Given the description of an element on the screen output the (x, y) to click on. 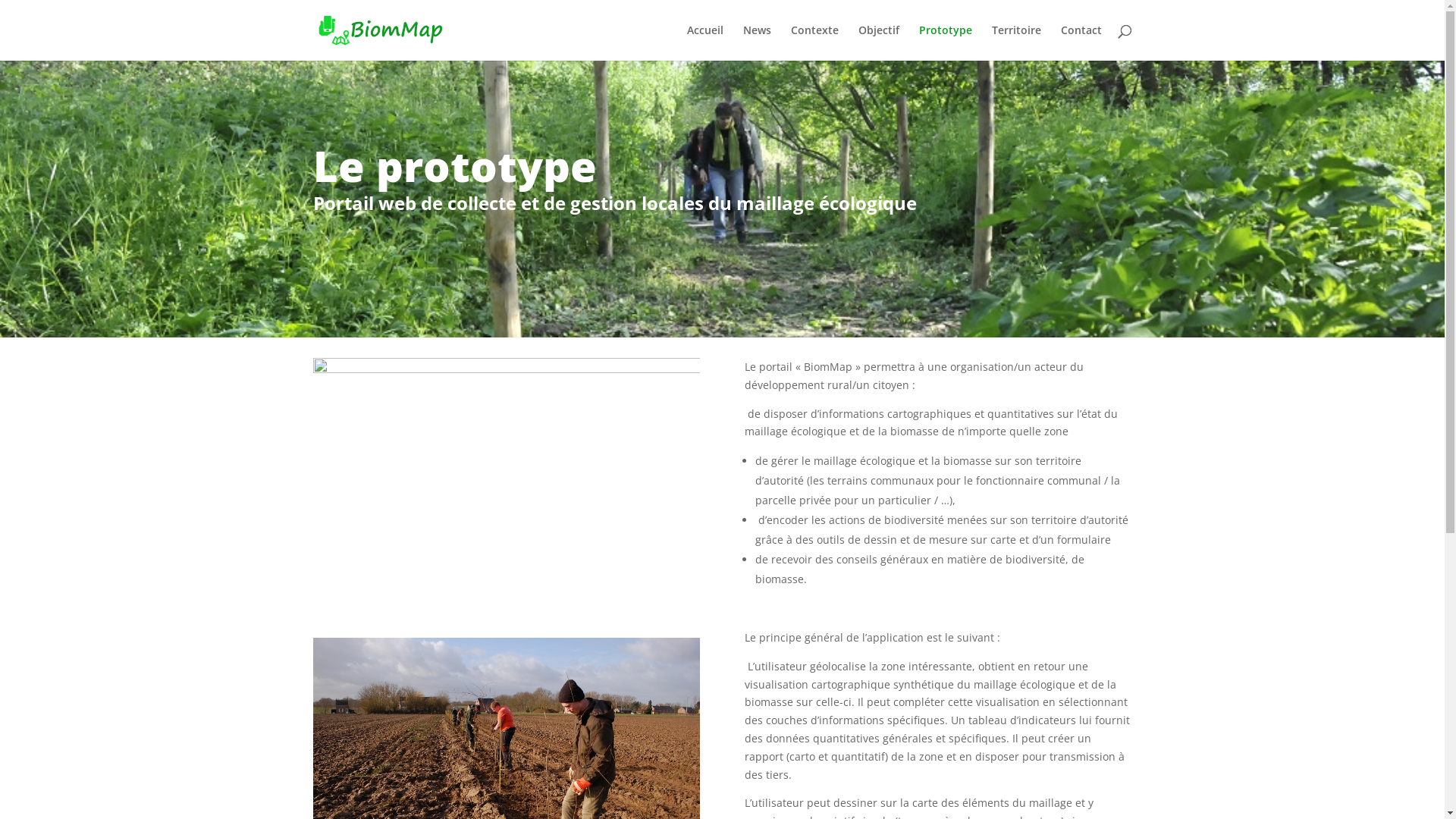
Territoire Element type: text (1016, 42)
Accueil Element type: text (705, 42)
Prototype Element type: text (945, 42)
_EMO5782 Element type: hover (505, 486)
Contact Element type: text (1080, 42)
Contexte Element type: text (813, 42)
News Element type: text (757, 42)
Objectif Element type: text (878, 42)
